Given the description of an element on the screen output the (x, y) to click on. 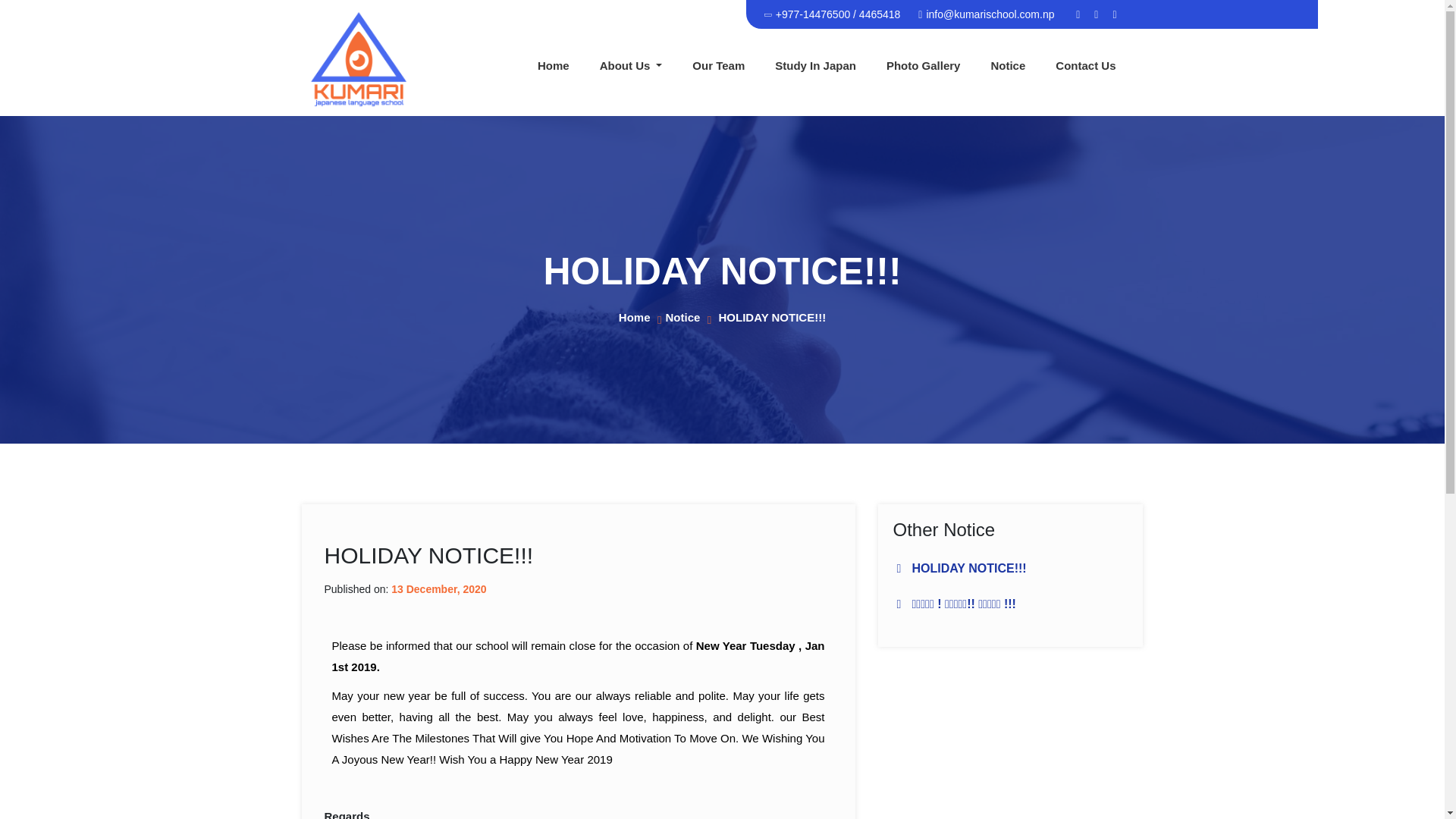
Home (634, 317)
Contact Us (1086, 65)
Notice (1008, 65)
HOLIDAY NOTICE!!! (968, 567)
Notice (682, 317)
Study In Japan (815, 65)
About Us (631, 65)
Photo Gallery (922, 65)
Our Team (718, 65)
